Given the description of an element on the screen output the (x, y) to click on. 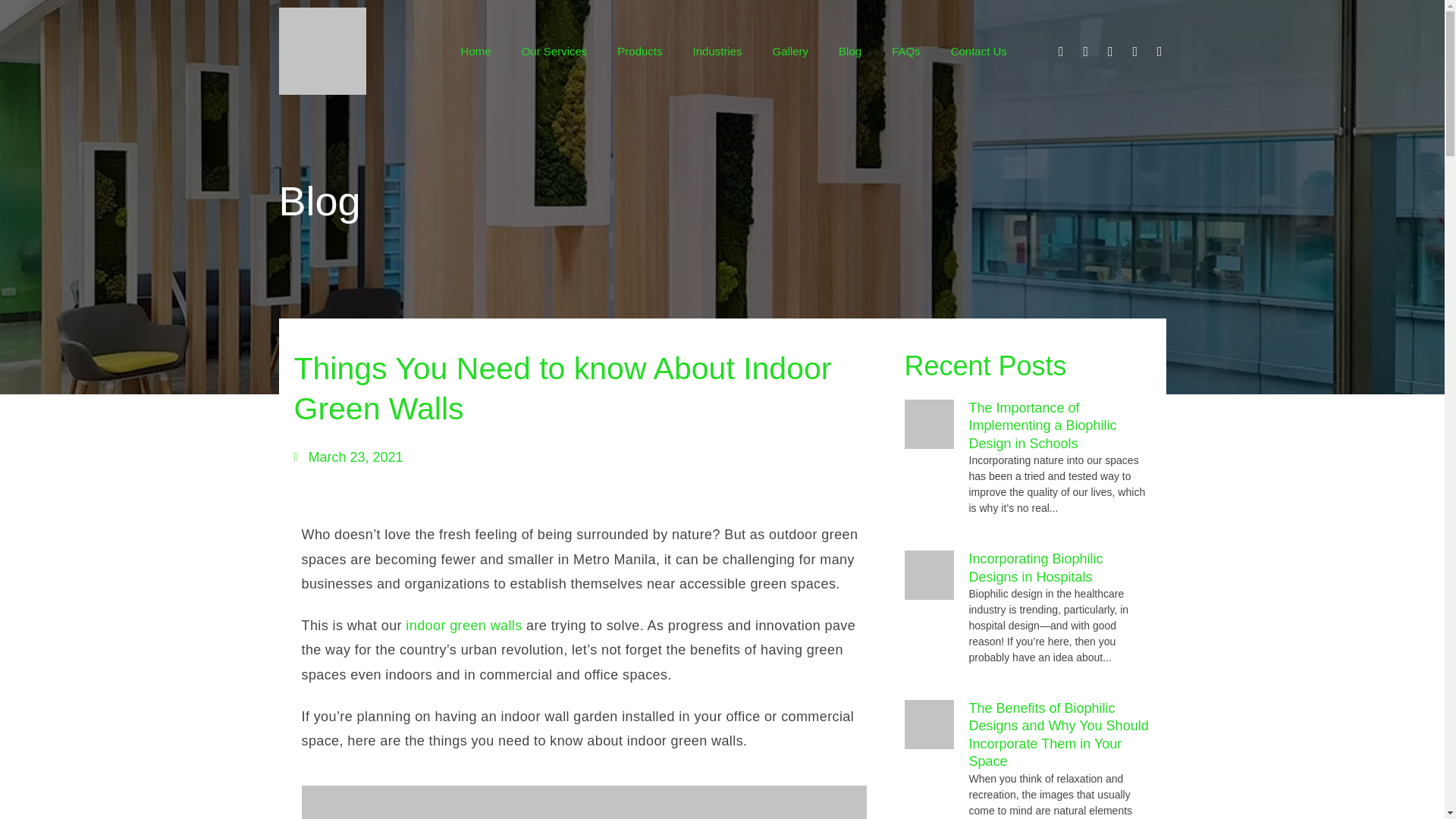
FAQs (906, 50)
Home (475, 50)
Blog (850, 50)
Our Services (554, 50)
Contact Us (979, 50)
Gallery (790, 50)
Products (639, 50)
Industries (717, 50)
